Given the description of an element on the screen output the (x, y) to click on. 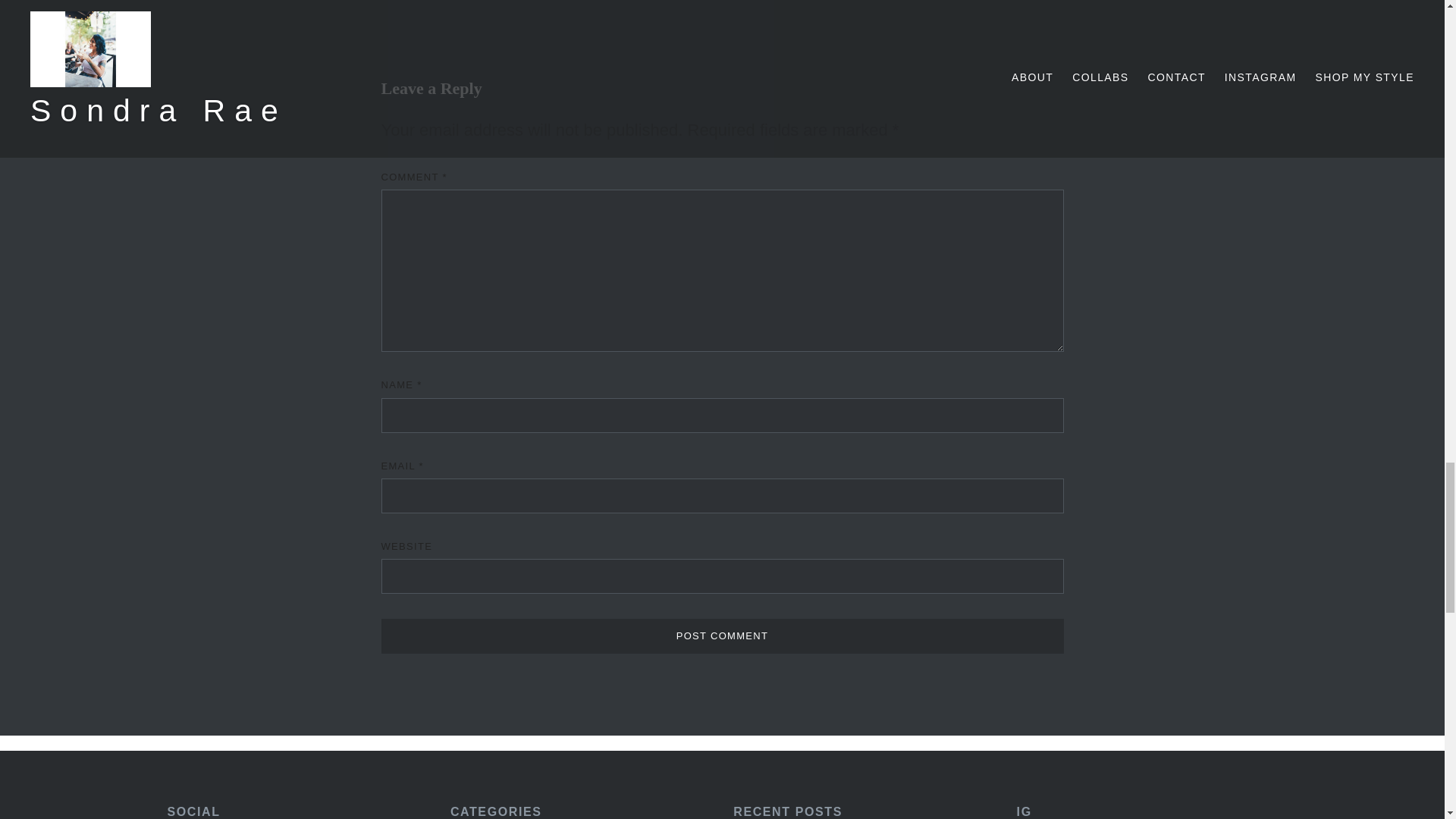
Post Comment (721, 636)
Post Comment (721, 636)
